Given the description of an element on the screen output the (x, y) to click on. 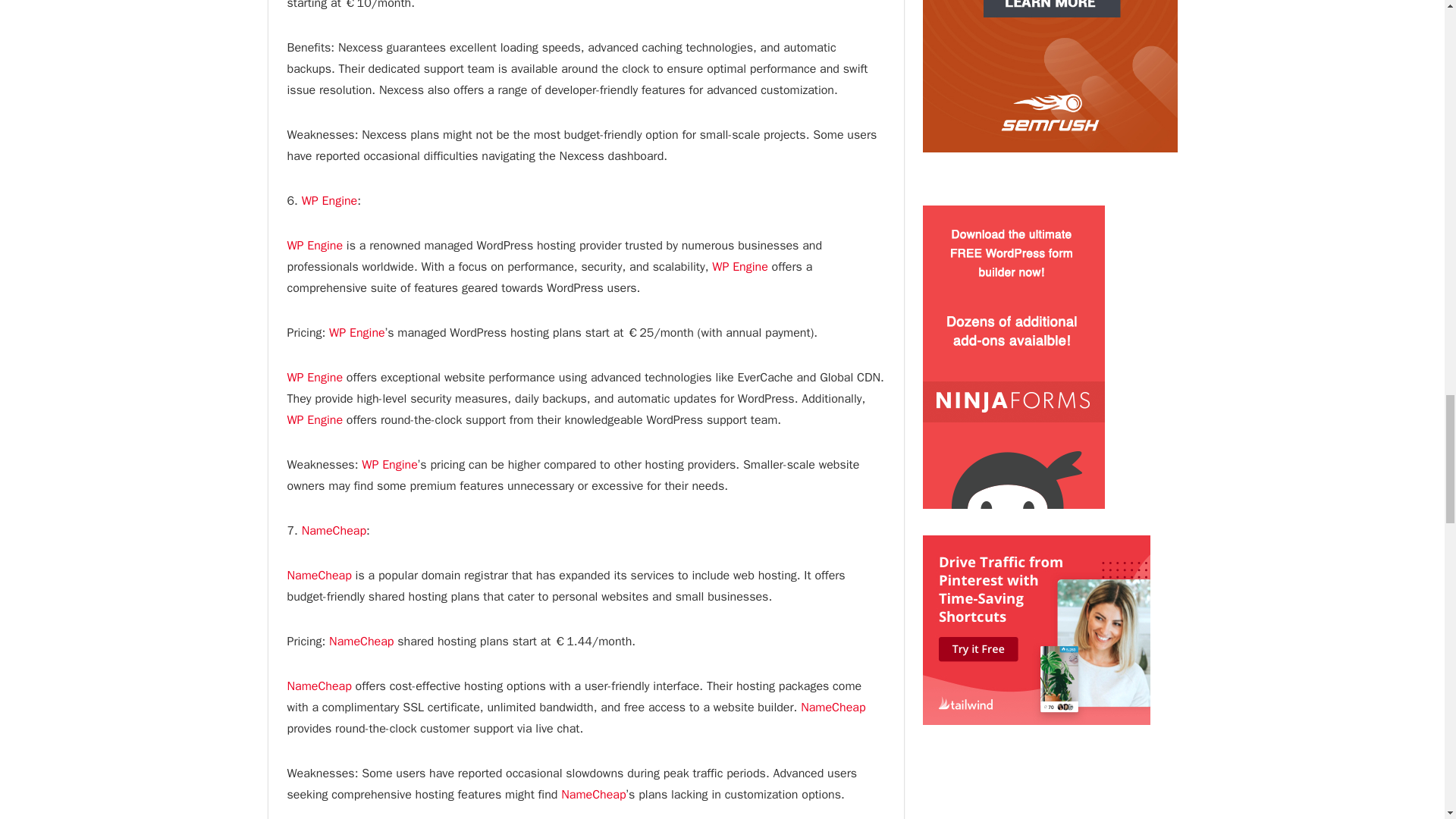
Advertisement (1048, 798)
WP Engine (329, 200)
